Given the description of an element on the screen output the (x, y) to click on. 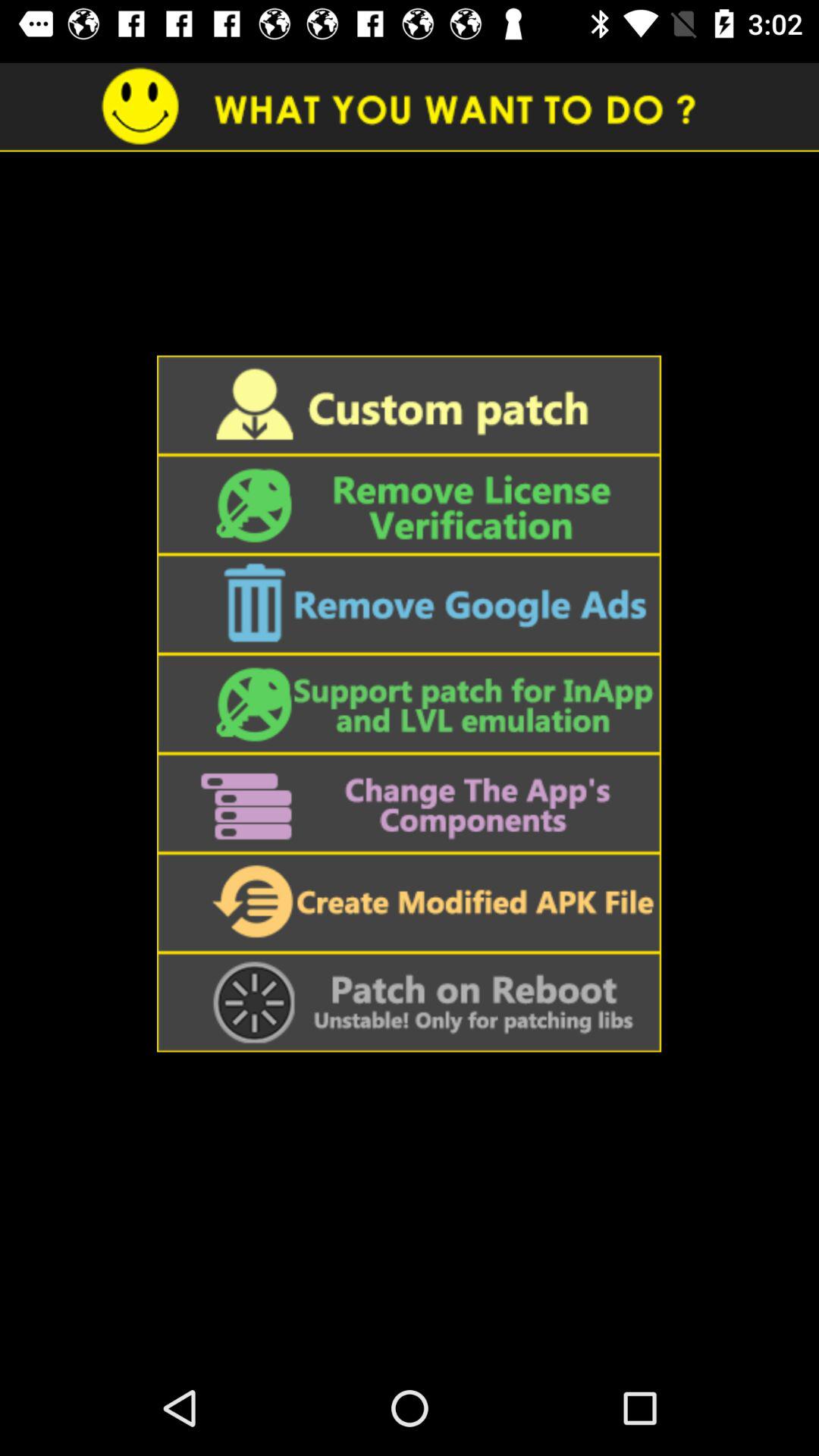
support patch (408, 703)
